Given the description of an element on the screen output the (x, y) to click on. 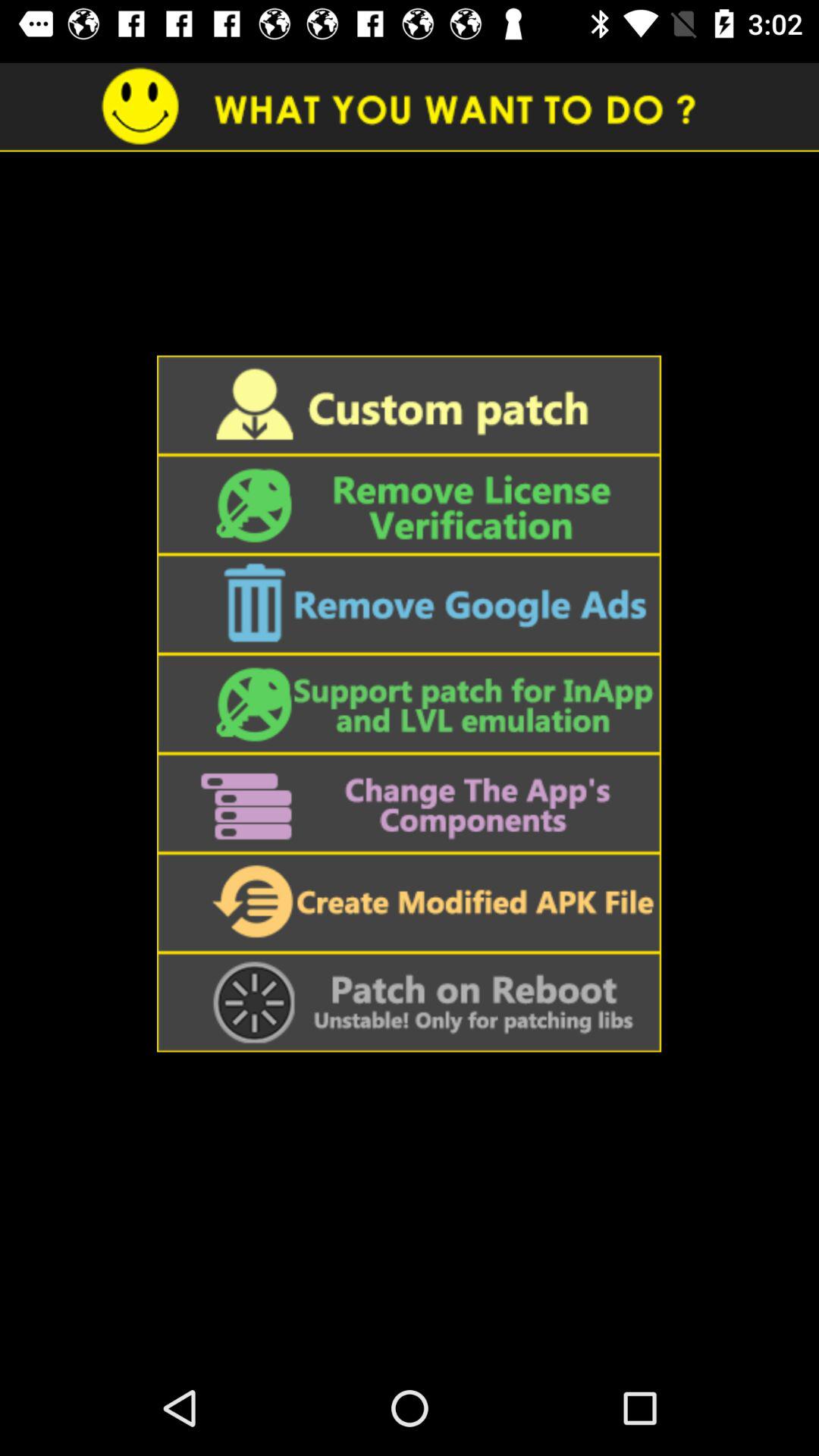
support patch (408, 703)
